Given the description of an element on the screen output the (x, y) to click on. 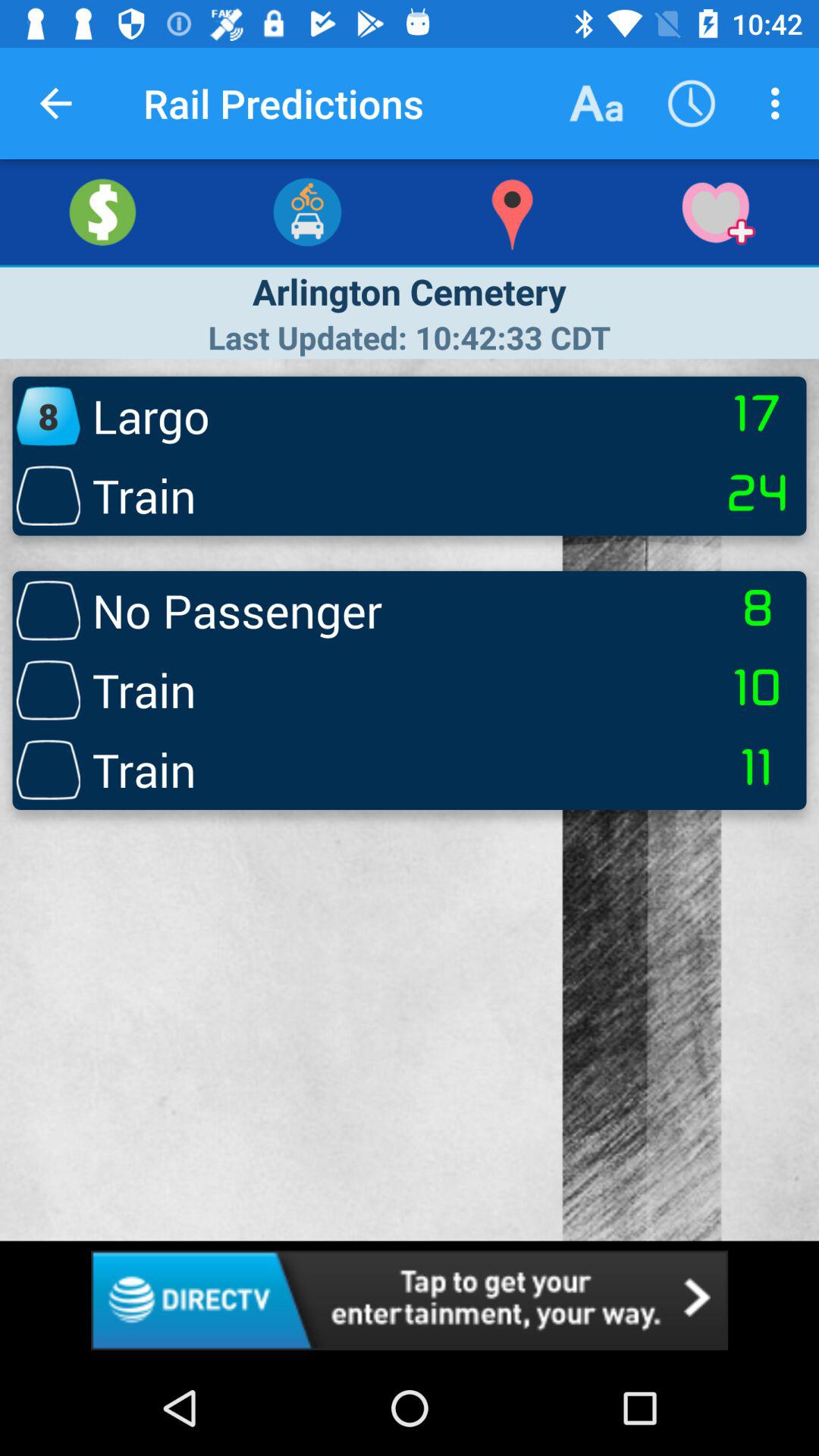
go to payment information (102, 212)
